Given the description of an element on the screen output the (x, y) to click on. 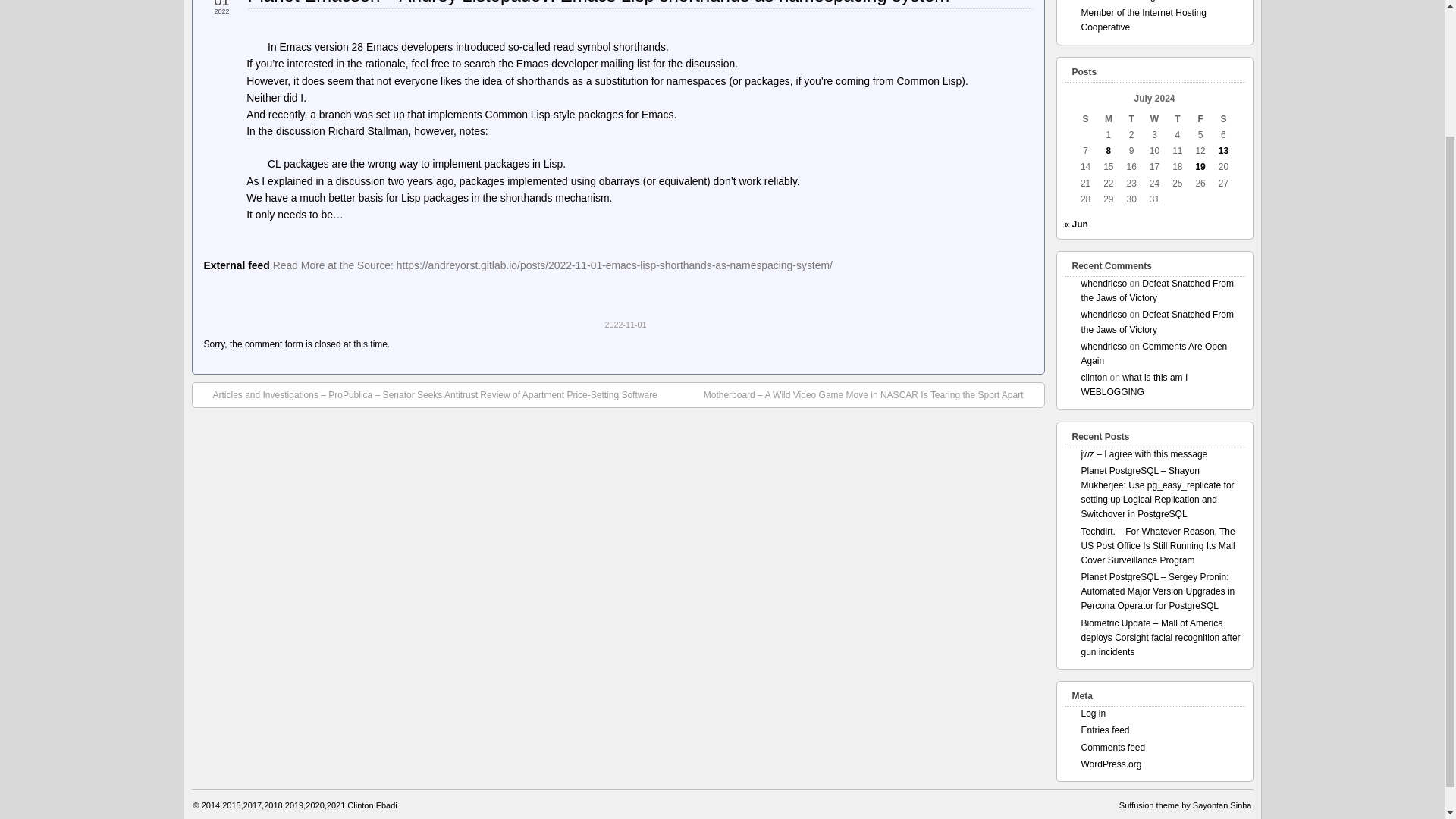
Defeat Snatched From the Jaws of Victory (1157, 290)
Member of the Internet Hosting Cooperative (1144, 19)
whendricso (1103, 314)
Log in (1093, 713)
Saturday (1222, 119)
Suffusion theme by Sayontan Sinha (1185, 804)
Sunday (1085, 119)
unknownlamer.org (1118, 0)
Wednesday (1153, 119)
what is this am I WEBLOGGING (1134, 384)
clinton (1094, 377)
Comments feed (1113, 747)
19 (1200, 166)
Defeat Snatched From the Jaws of Victory (1157, 321)
Friday (1200, 119)
